Given the description of an element on the screen output the (x, y) to click on. 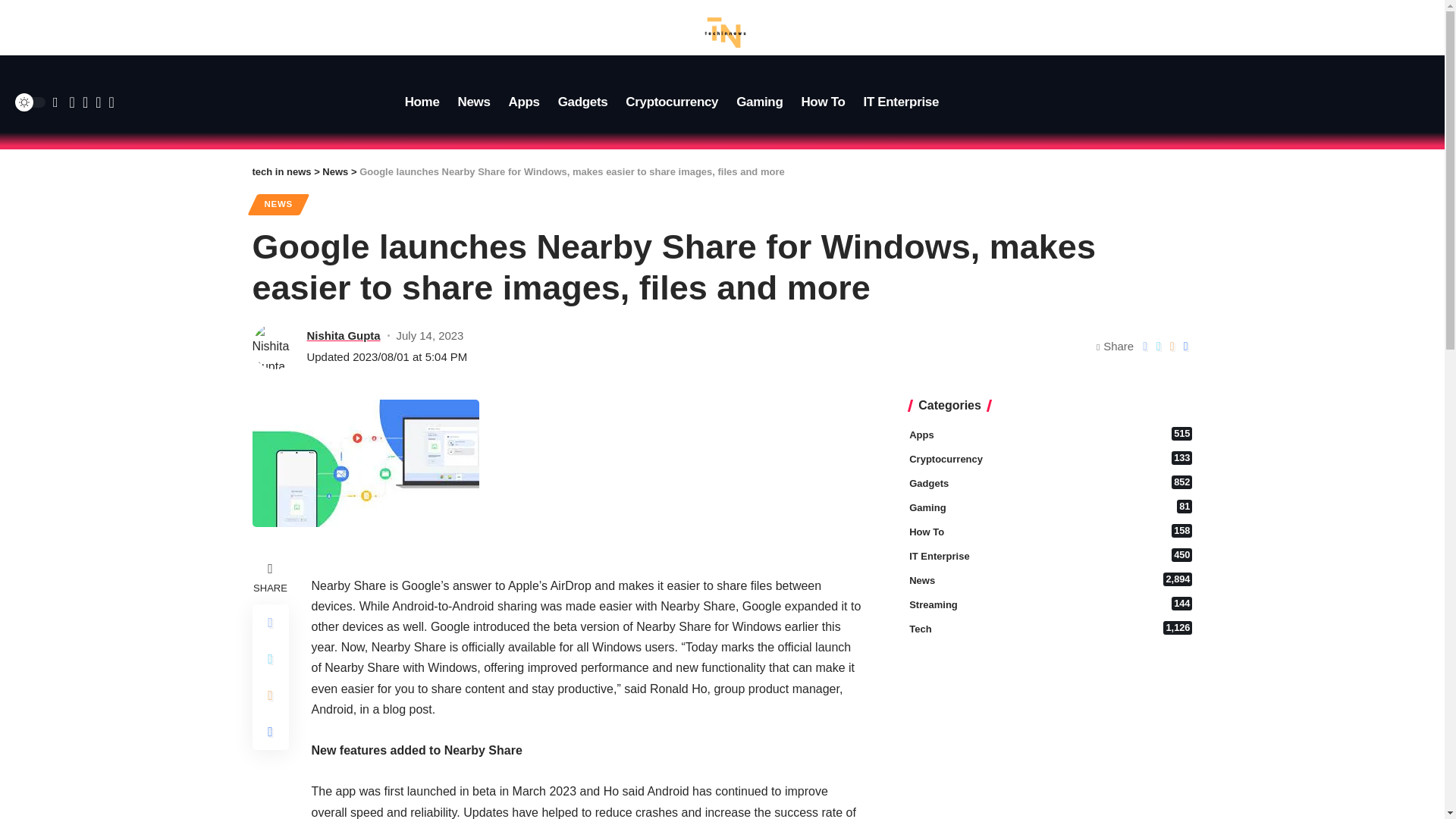
Gaming (759, 101)
Go to tech in news. (281, 171)
Gadgets (582, 101)
Cryptocurrency (1050, 459)
How To (670, 101)
News (1050, 436)
Apps (822, 101)
Go to the News Category archives. (473, 101)
News (523, 101)
tech in news (334, 171)
Nishita Gupta (334, 171)
Home (281, 171)
IT Enterprise (342, 334)
